Given the description of an element on the screen output the (x, y) to click on. 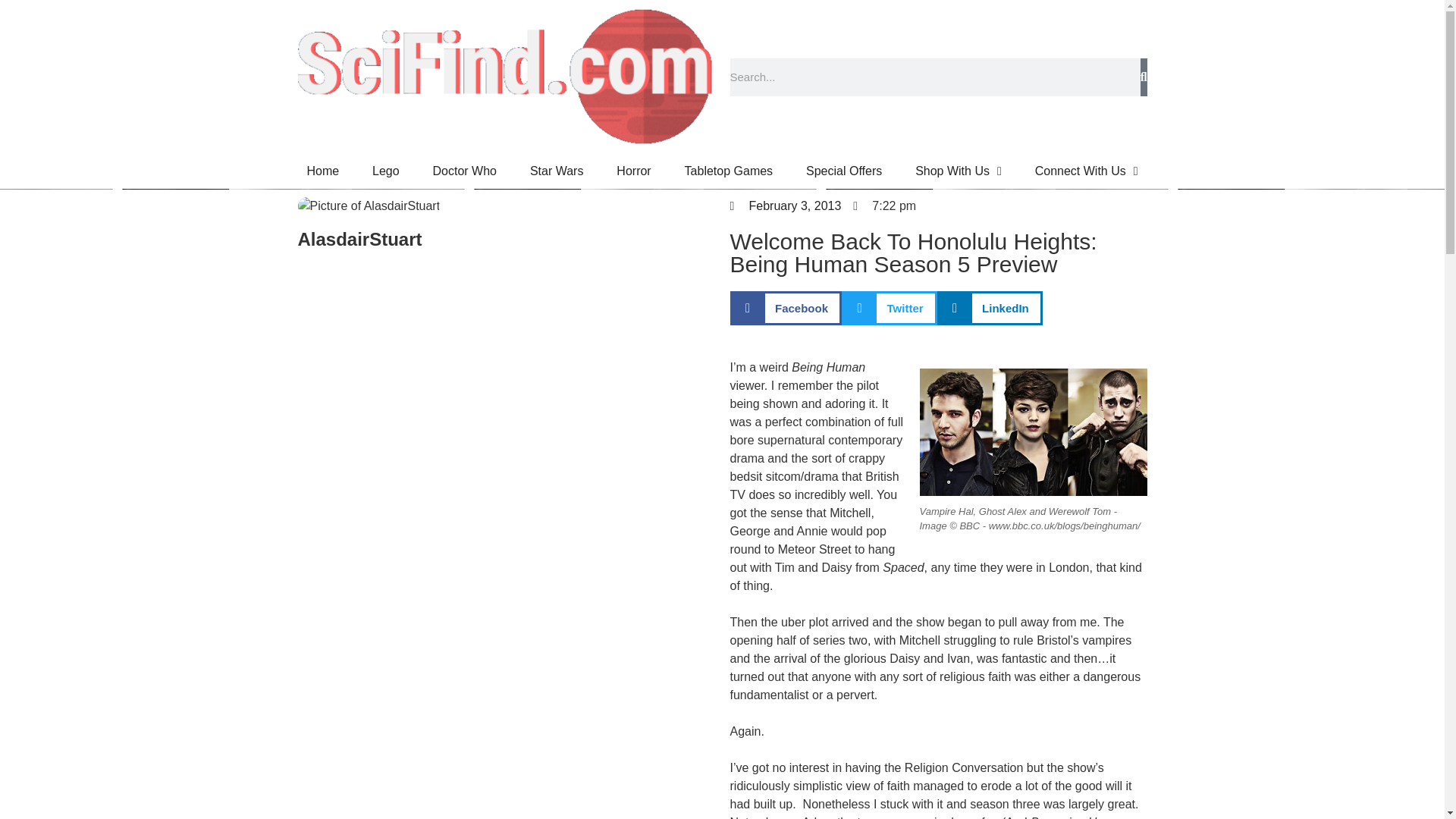
Shop With Us (957, 171)
February 3, 2013 (785, 206)
Being Human Series 5 (1032, 432)
Special Offers (843, 171)
Horror (632, 171)
Star Wars (556, 171)
Connect With Us (1085, 171)
Doctor Who (464, 171)
Lego (385, 171)
Tabletop Games (728, 171)
Home (322, 171)
